Given the description of an element on the screen output the (x, y) to click on. 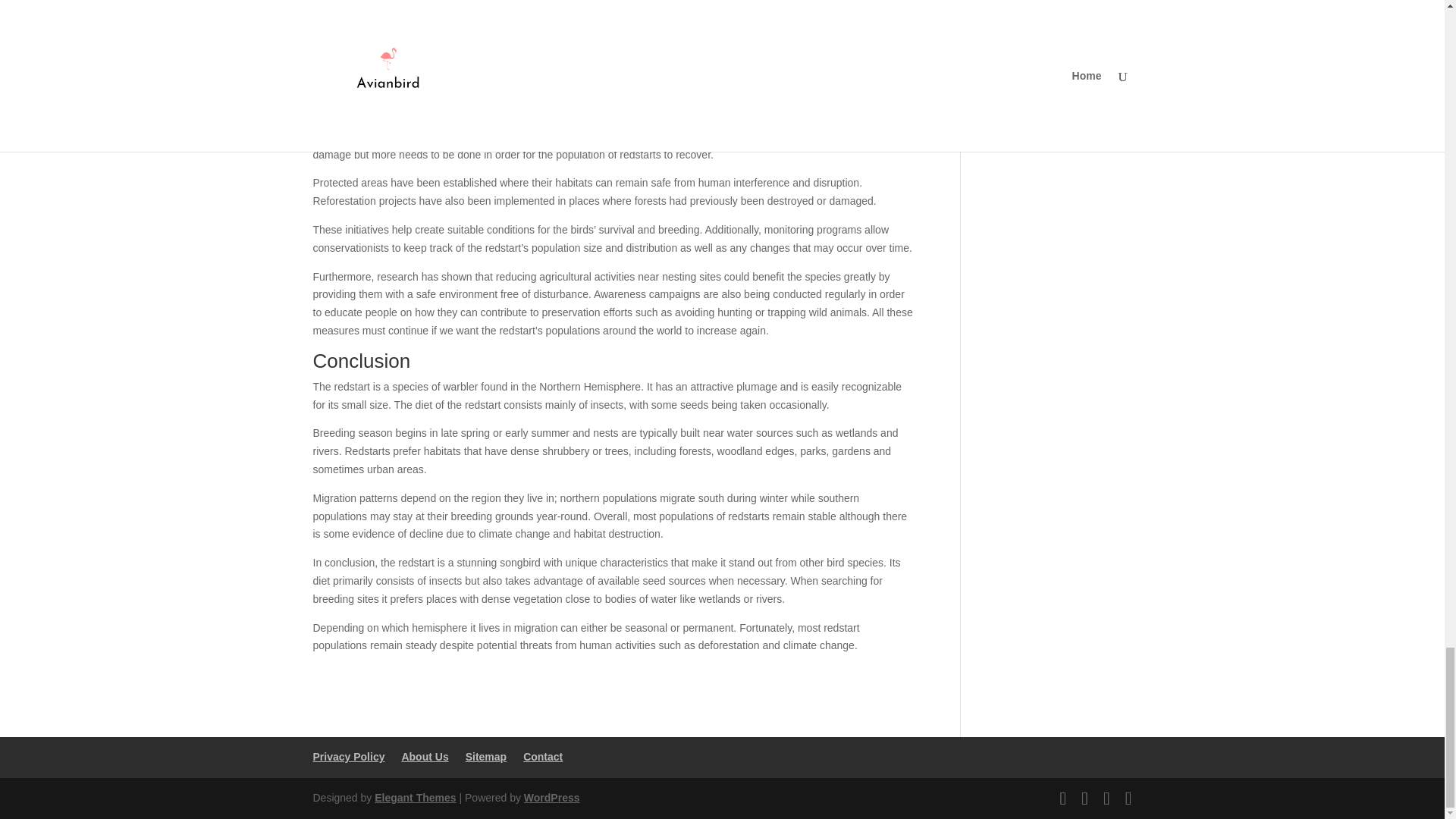
WordPress (551, 797)
Premium WordPress Themes (414, 797)
Contact (542, 756)
Elegant Themes (414, 797)
About Us (424, 756)
Privacy Policy (348, 756)
Sitemap (485, 756)
